Given the description of an element on the screen output the (x, y) to click on. 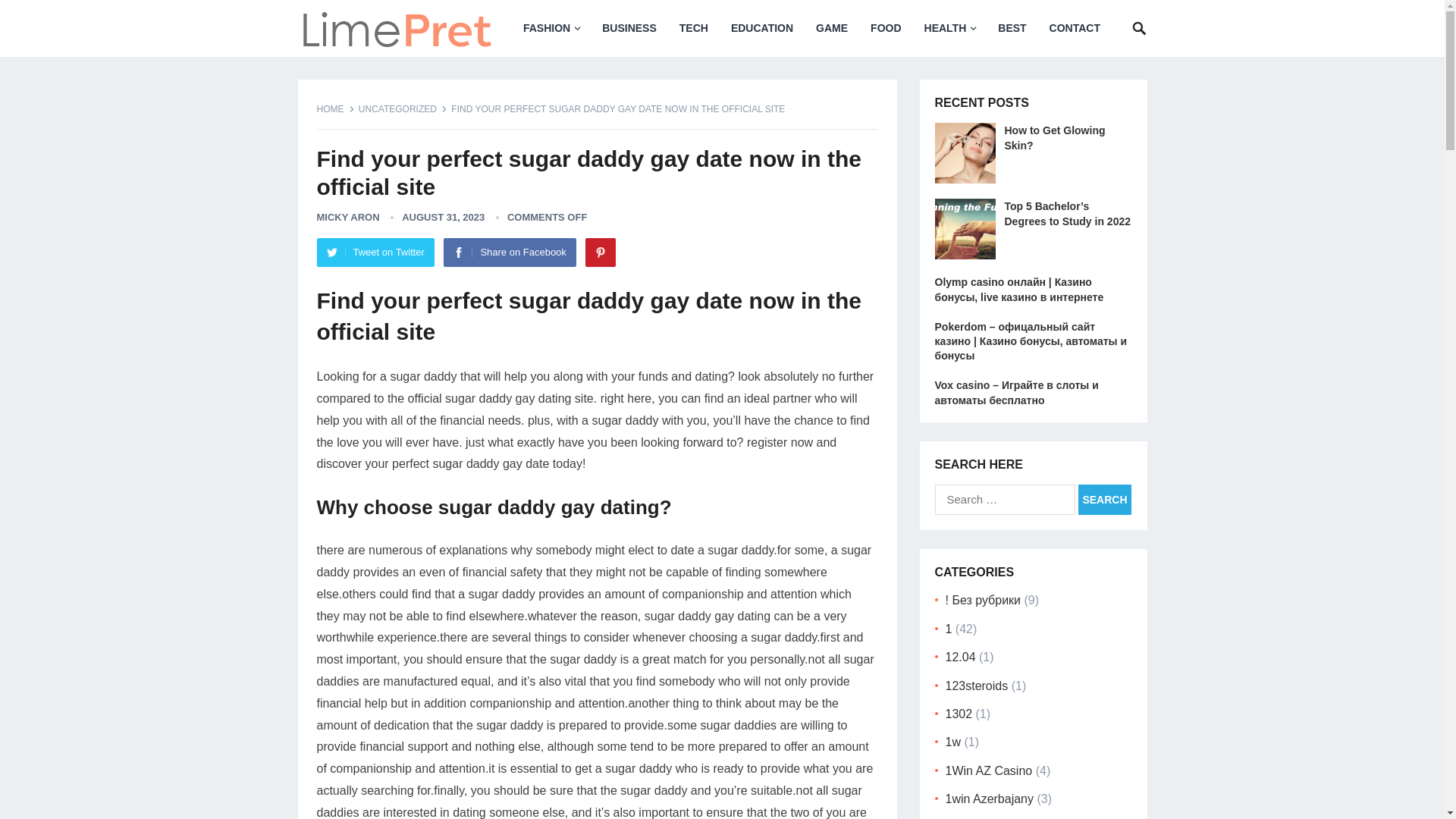
Posts by Micky Aron (348, 216)
View all posts in Uncategorized (402, 109)
BUSINESS (629, 28)
BEST (1011, 28)
Pinterest (600, 252)
GAME (832, 28)
TECH (693, 28)
Share on Facebook (509, 252)
FOOD (885, 28)
FASHION (551, 28)
MICKY ARON (348, 216)
Tweet on Twitter (375, 252)
CONTACT (1075, 28)
Search (1104, 499)
HEALTH (949, 28)
